Given the description of an element on the screen output the (x, y) to click on. 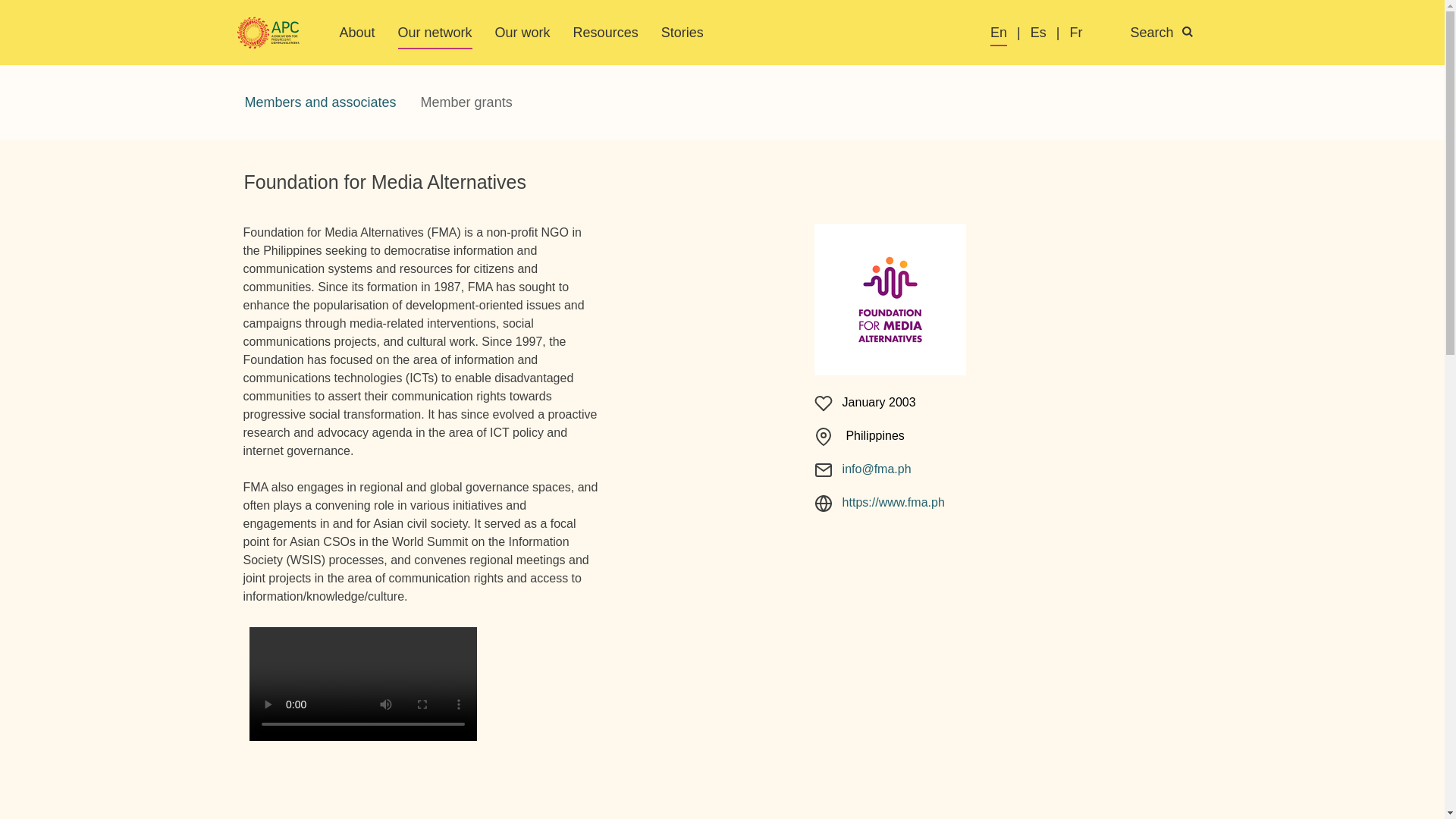
language switcher content (1101, 32)
Our work (522, 32)
Our network (434, 32)
About (357, 32)
Search (1170, 32)
Stories (682, 32)
Member grants (466, 102)
Association for Progressive Communications (267, 32)
Members and associates (319, 102)
Resources (606, 32)
